Given the description of an element on the screen output the (x, y) to click on. 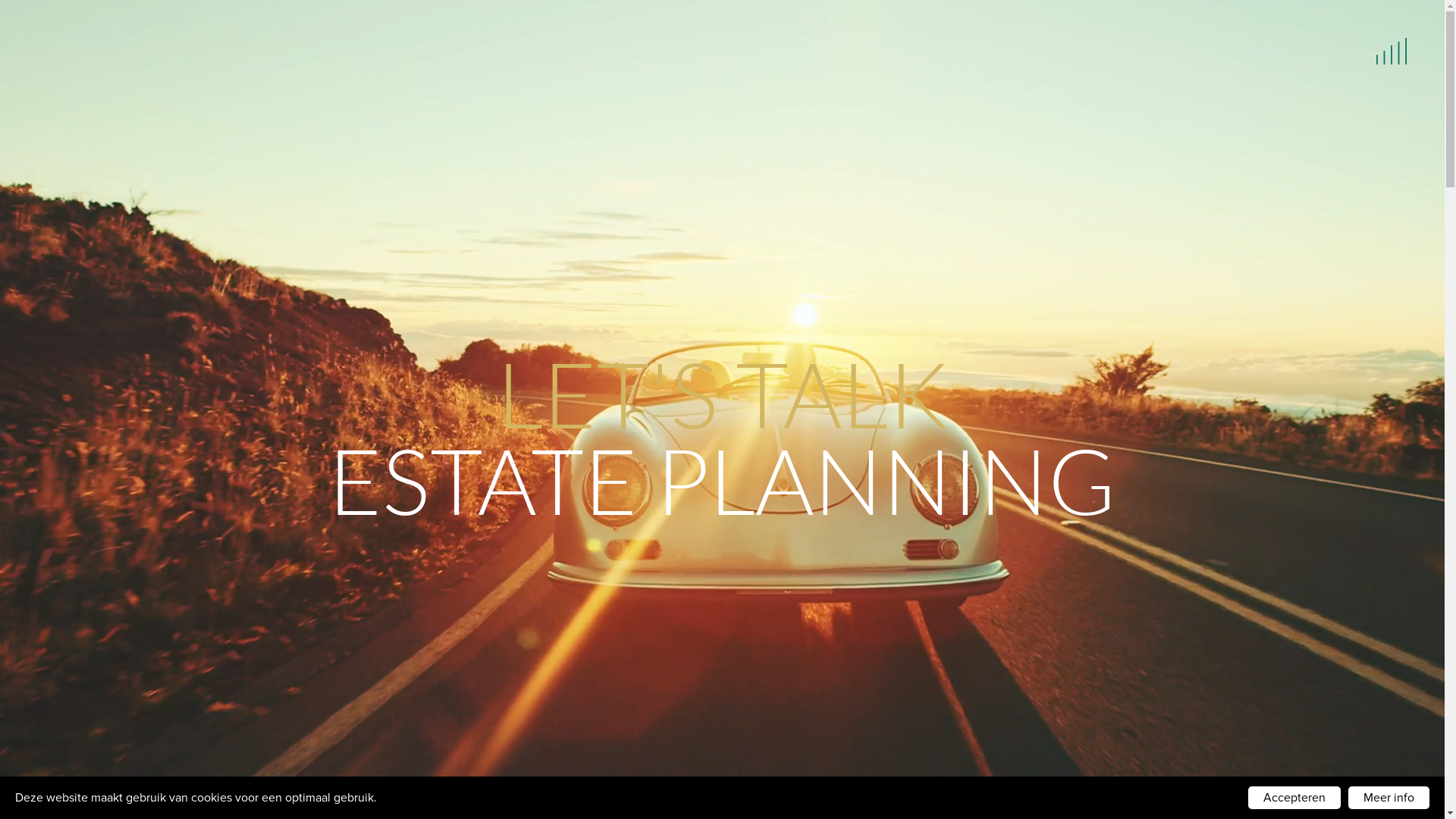
Accepteren Element type: text (1294, 797)
Meer info Element type: text (1388, 797)
